Given the description of an element on the screen output the (x, y) to click on. 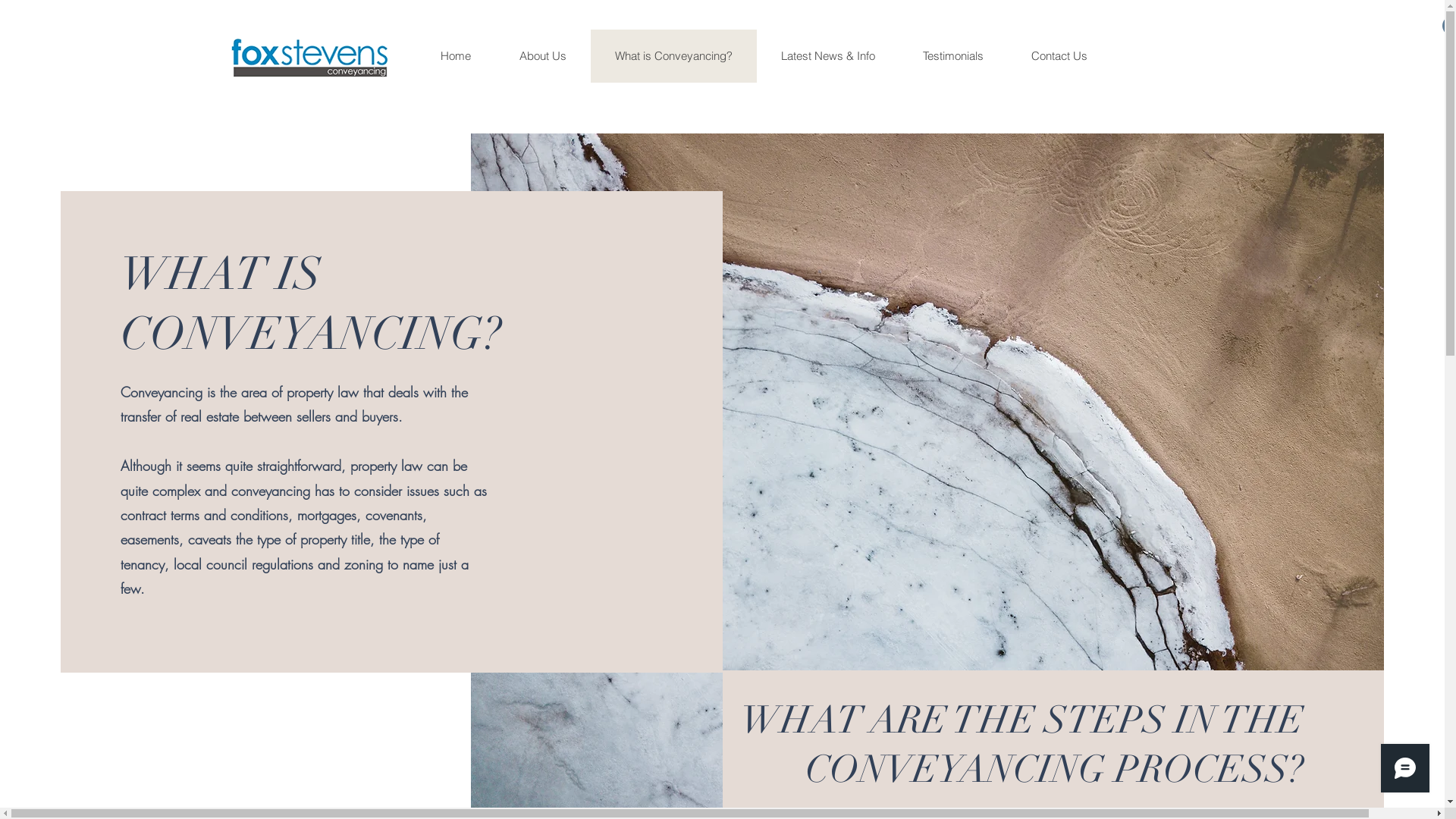
Wix Chat Element type: hover (1408, 771)
Home Element type: text (456, 55)
About Us Element type: text (541, 55)
Latest News & Info Element type: text (827, 55)
Contact Us Element type: text (1058, 55)
What is Conveyancing? Element type: text (672, 55)
Testimonials Element type: text (951, 55)
